Given the description of an element on the screen output the (x, y) to click on. 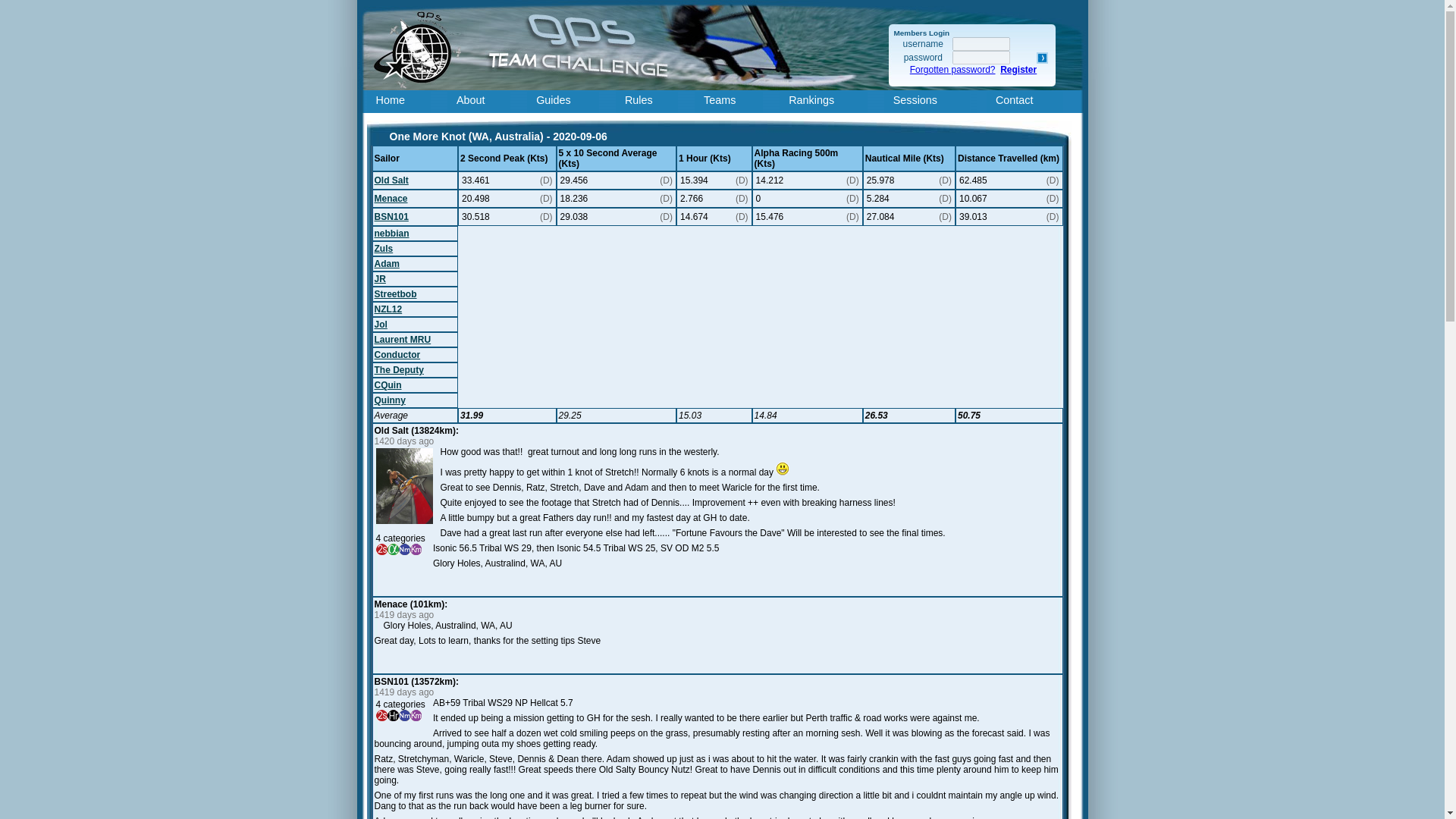
Old Salt (391, 180)
Home (402, 101)
Jol (380, 324)
NZL12 (388, 308)
Adam (386, 263)
Rules (650, 101)
Register (1018, 69)
S (1042, 57)
BSN101 (391, 216)
Conductor (397, 354)
Zuls (383, 248)
nebbian (391, 233)
About (482, 101)
Laughing (782, 468)
Sessions (930, 101)
